Given the description of an element on the screen output the (x, y) to click on. 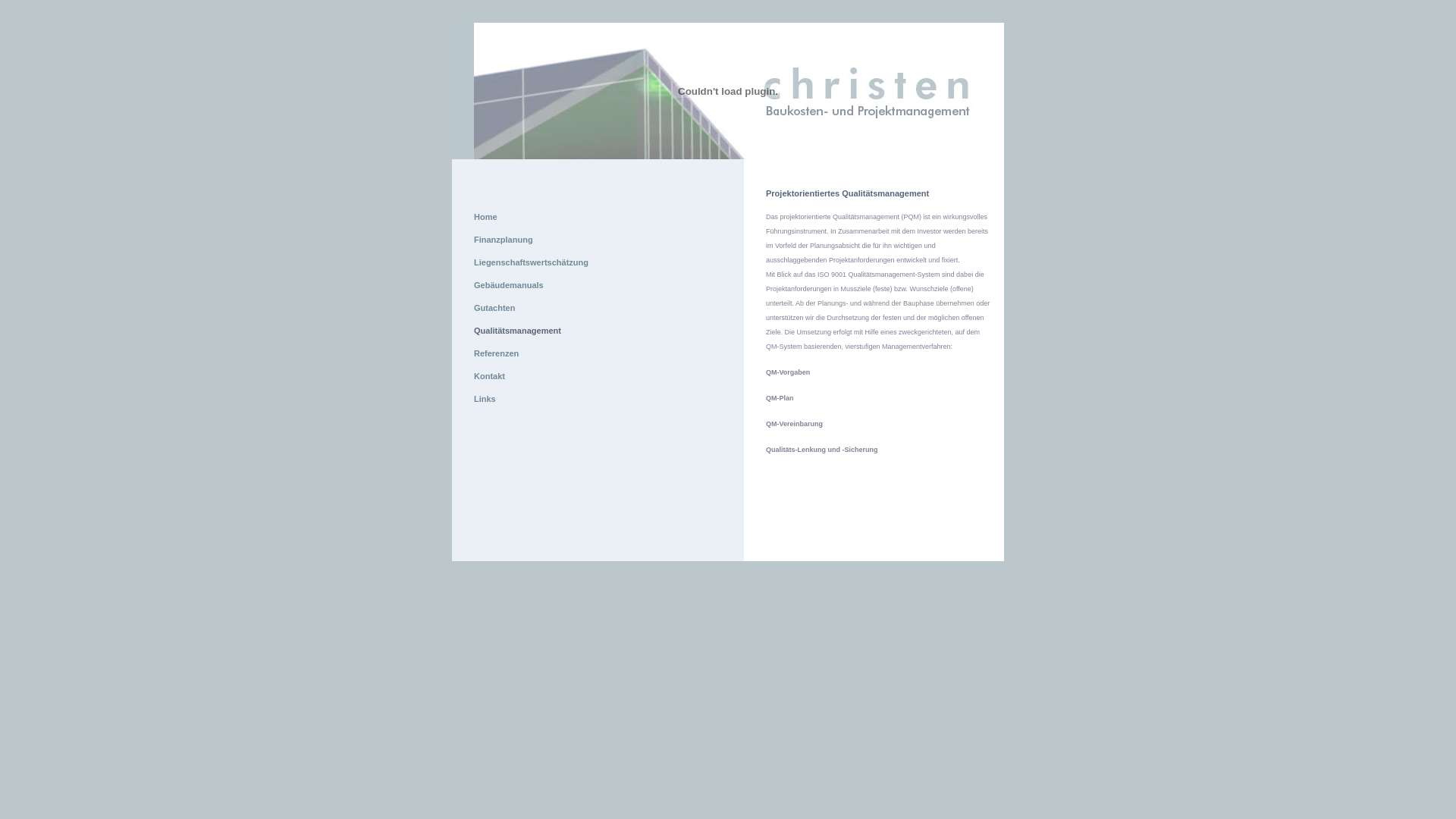
QM-Plan Element type: text (779, 397)
Home Element type: text (485, 216)
Links Element type: text (484, 398)
Finanzplanung Element type: text (503, 239)
Gutachten Element type: text (493, 307)
Referenzen Element type: text (495, 352)
Kontakt Element type: text (489, 375)
QM-Vorgaben Element type: text (787, 372)
QM-Vereinbarung Element type: text (793, 423)
